Given the description of an element on the screen output the (x, y) to click on. 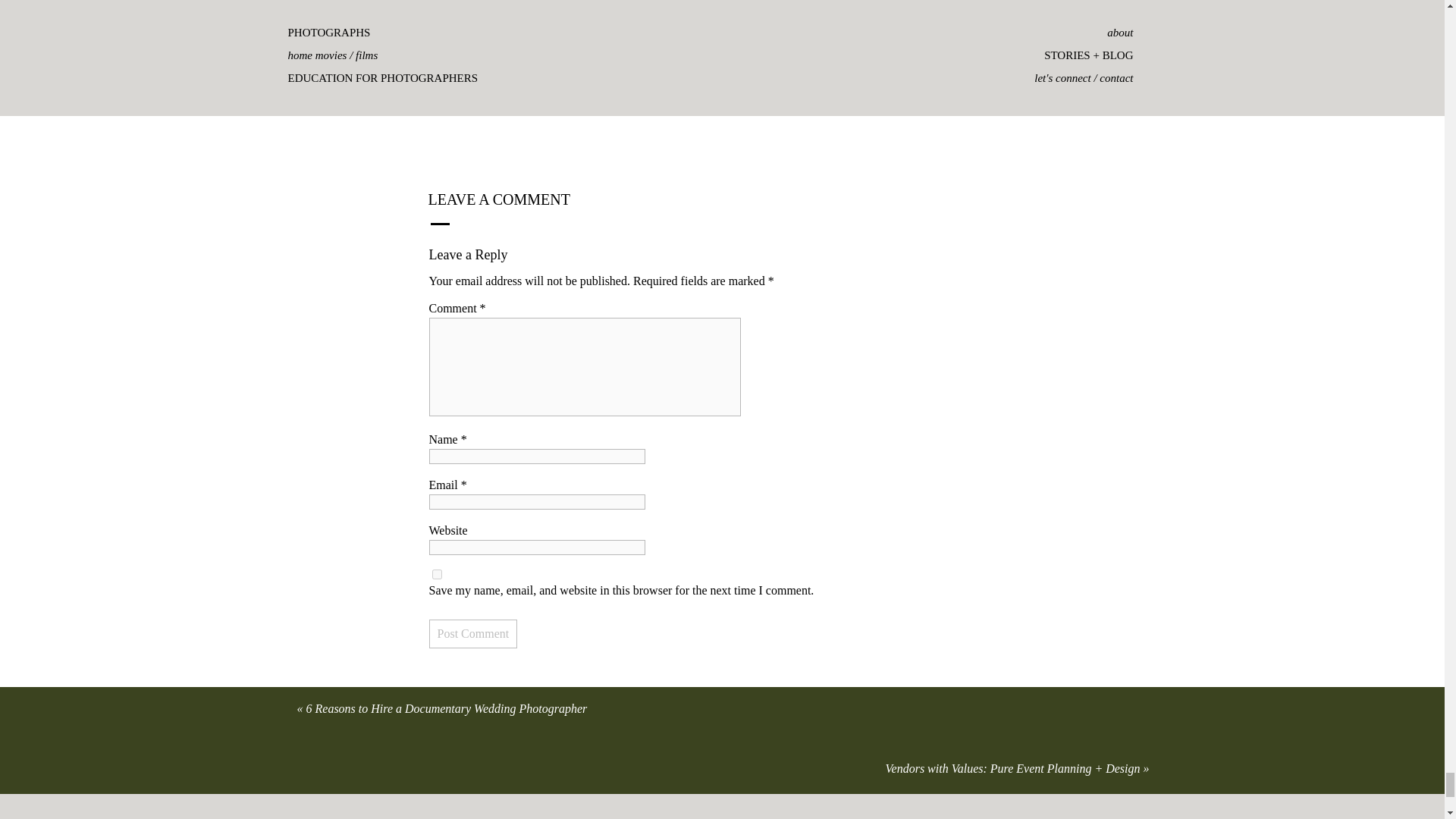
yes (437, 574)
Post Comment (473, 633)
